Given the description of an element on the screen output the (x, y) to click on. 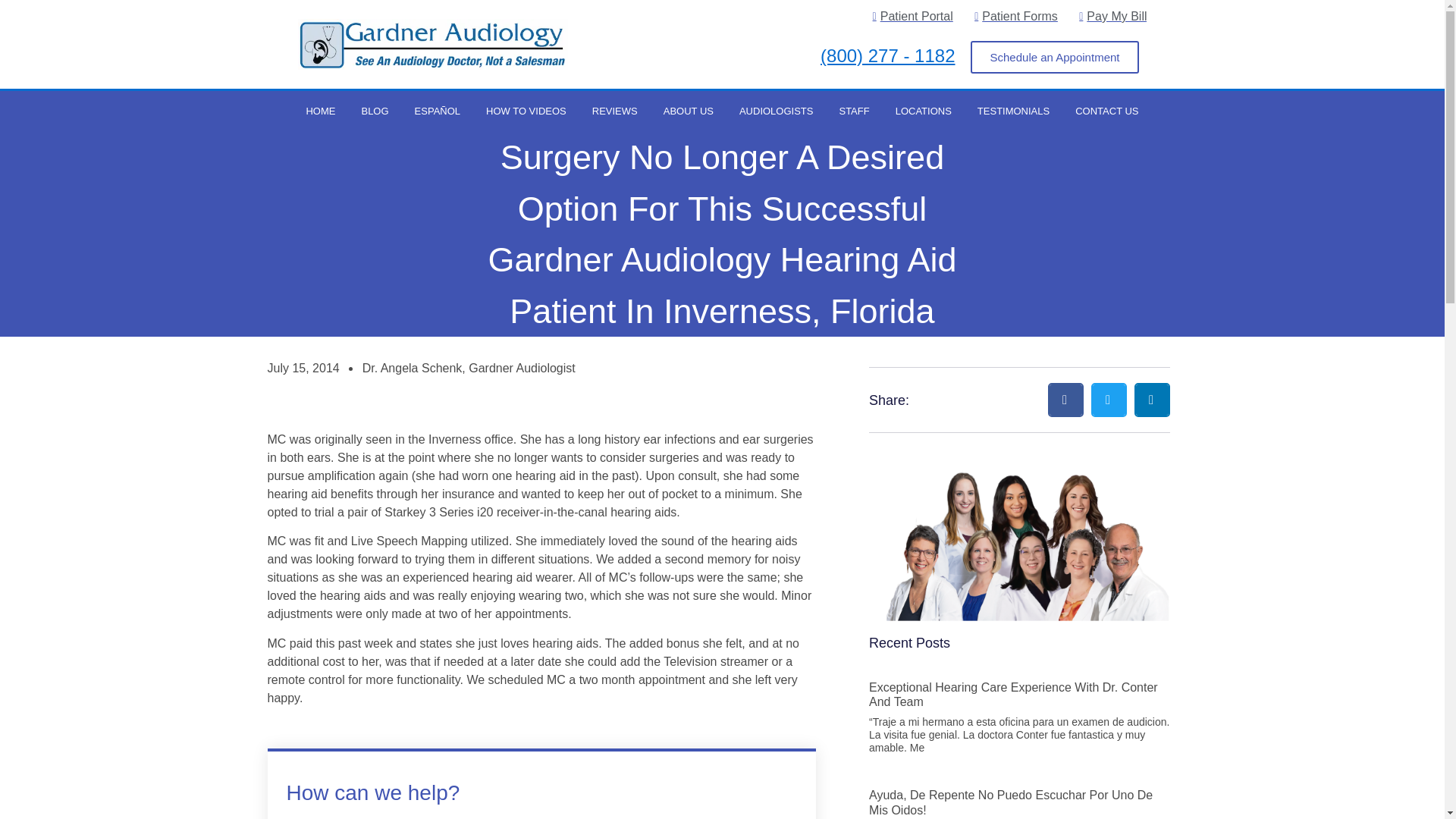
CONTACT US (1106, 110)
Exceptional Hearing Care Experience With Dr. Conter And Team (1013, 694)
HOW TO VIDEOS (526, 110)
July 15, 2014 (302, 368)
AUDIOLOGISTS (776, 110)
HOME (319, 110)
LOCATIONS (922, 110)
STAFF (853, 110)
ABOUT US (688, 110)
Pay My Bill (1108, 16)
Patient Portal (908, 16)
REVIEWS (614, 110)
Ayuda, De Repente No Puedo Escuchar Por Uno De Mis Oidos! (1011, 801)
Schedule an Appointment (1055, 56)
BLOG (374, 110)
